Given the description of an element on the screen output the (x, y) to click on. 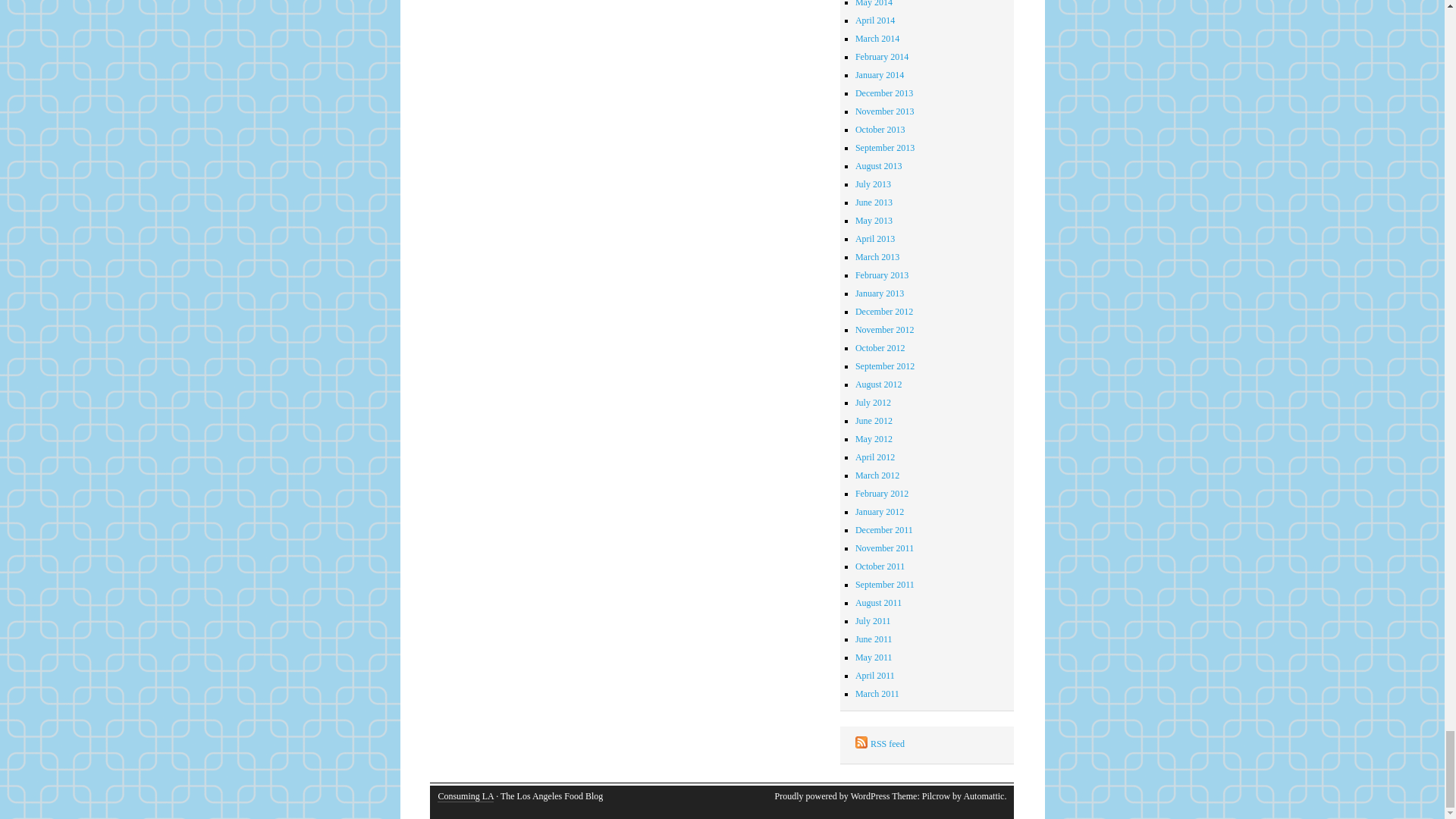
RSS feed (929, 743)
Consuming LA (465, 796)
